Given the description of an element on the screen output the (x, y) to click on. 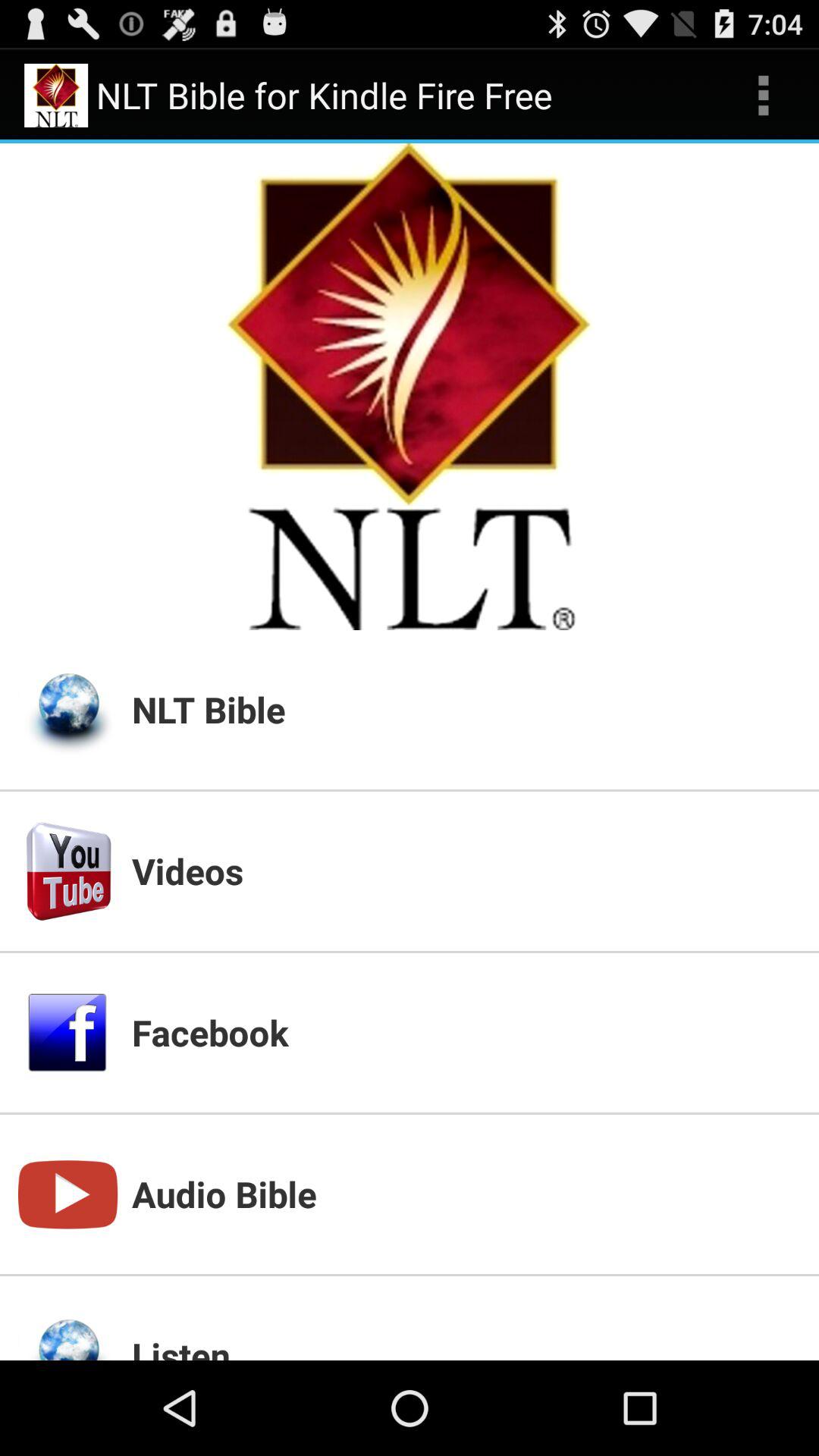
select facebook (465, 1032)
